Given the description of an element on the screen output the (x, y) to click on. 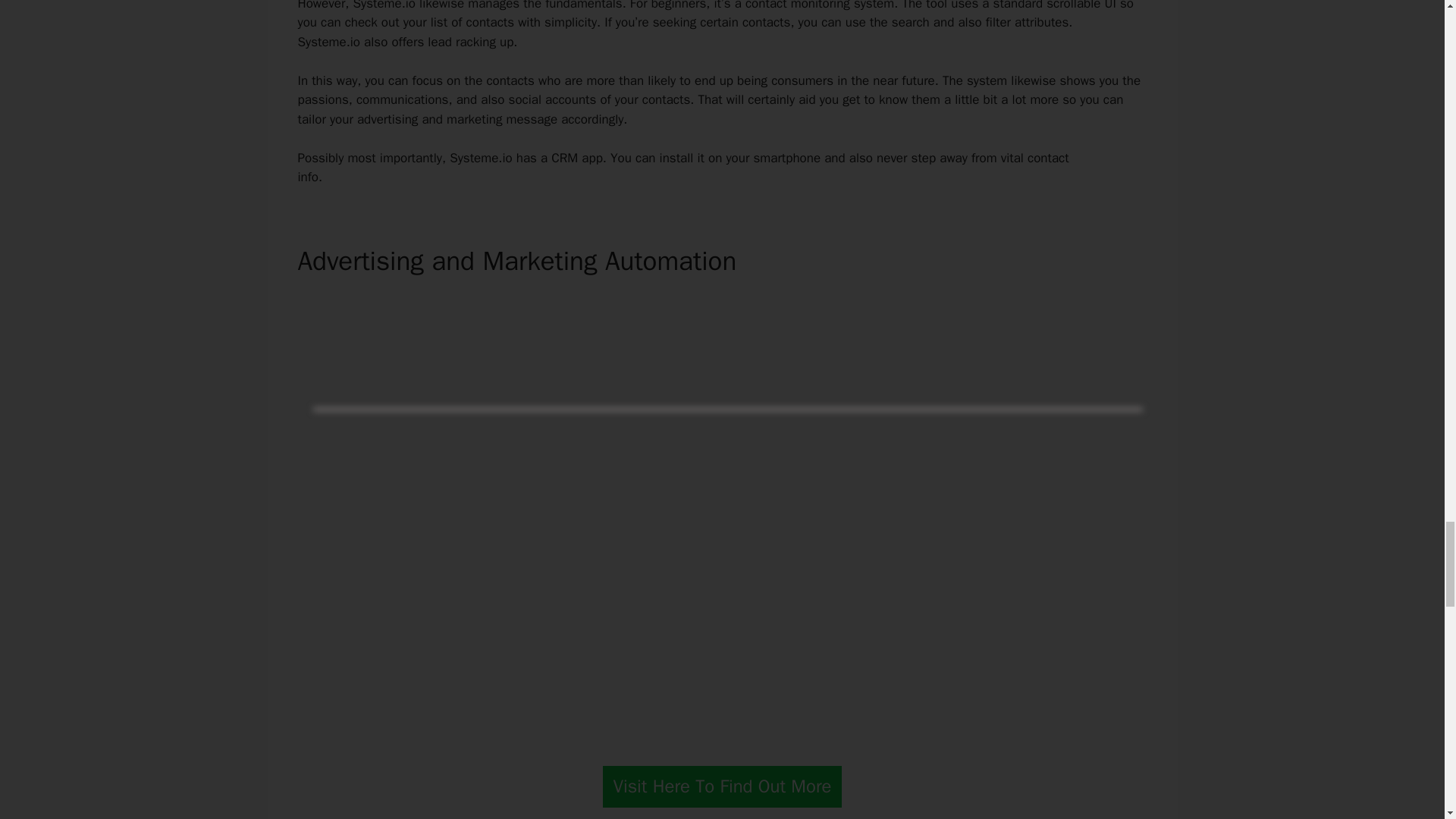
Visit Here To Find Out More (721, 786)
